Given the description of an element on the screen output the (x, y) to click on. 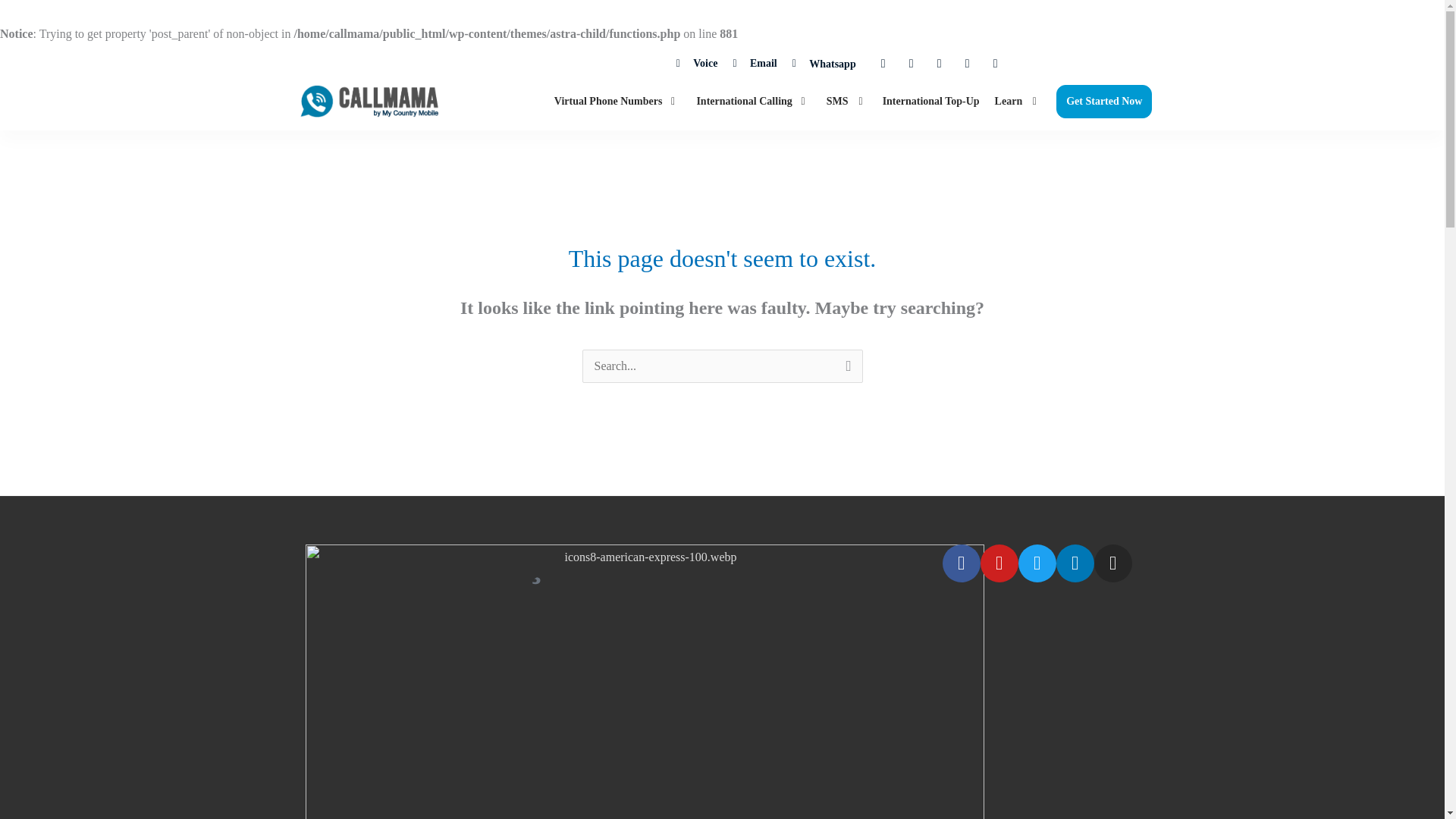
Youtube (911, 63)
Linkedin (967, 63)
X-twitter (939, 63)
Voice (697, 63)
Instagram (995, 63)
International Top-Up (930, 101)
Email (754, 63)
Learn (1010, 101)
Whatsapp (824, 64)
Virtual Phone Numbers (609, 101)
International Calling (744, 101)
Facebook (882, 63)
SMS (840, 101)
